Given the description of an element on the screen output the (x, y) to click on. 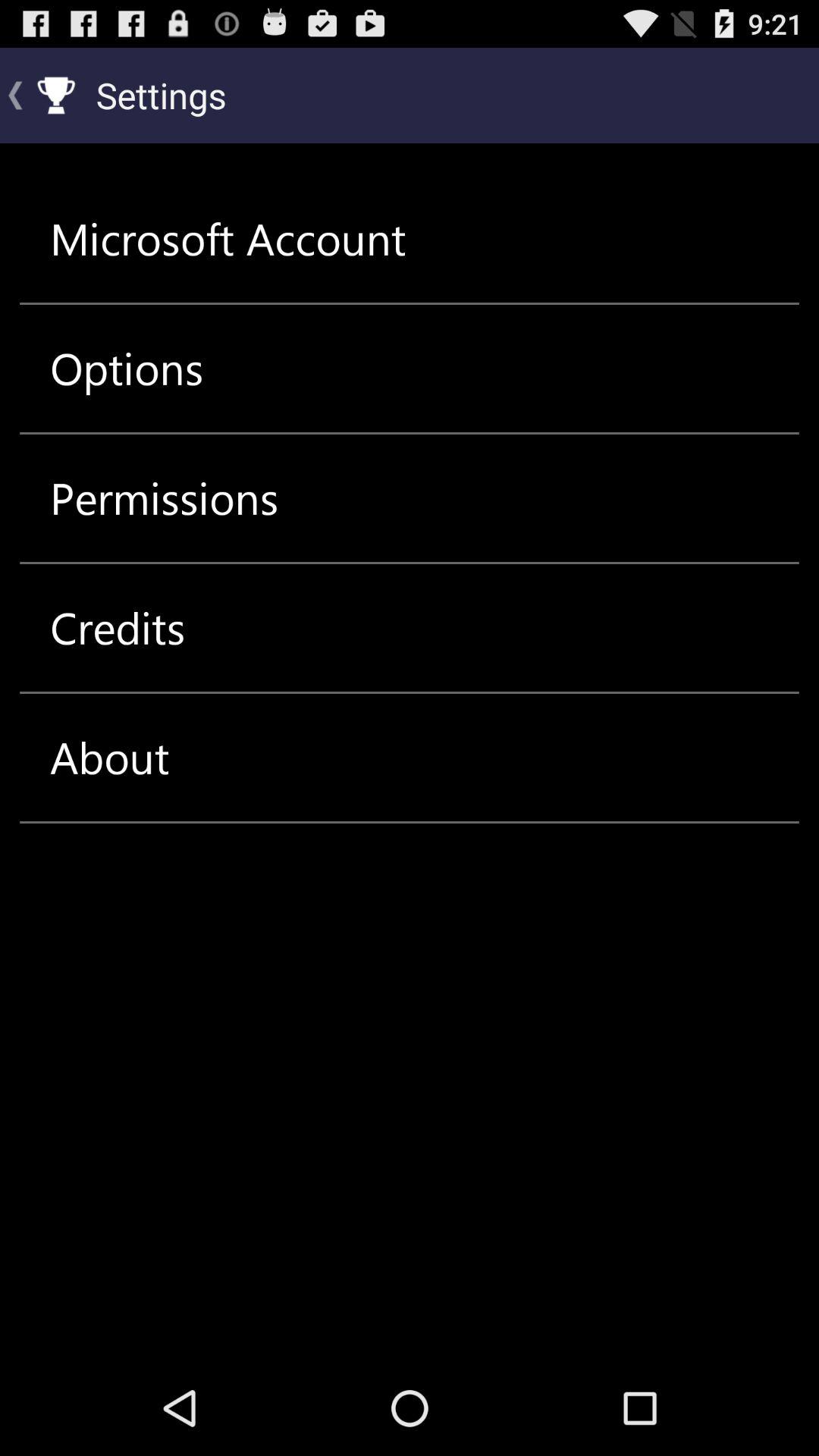
open options item (126, 368)
